Given the description of an element on the screen output the (x, y) to click on. 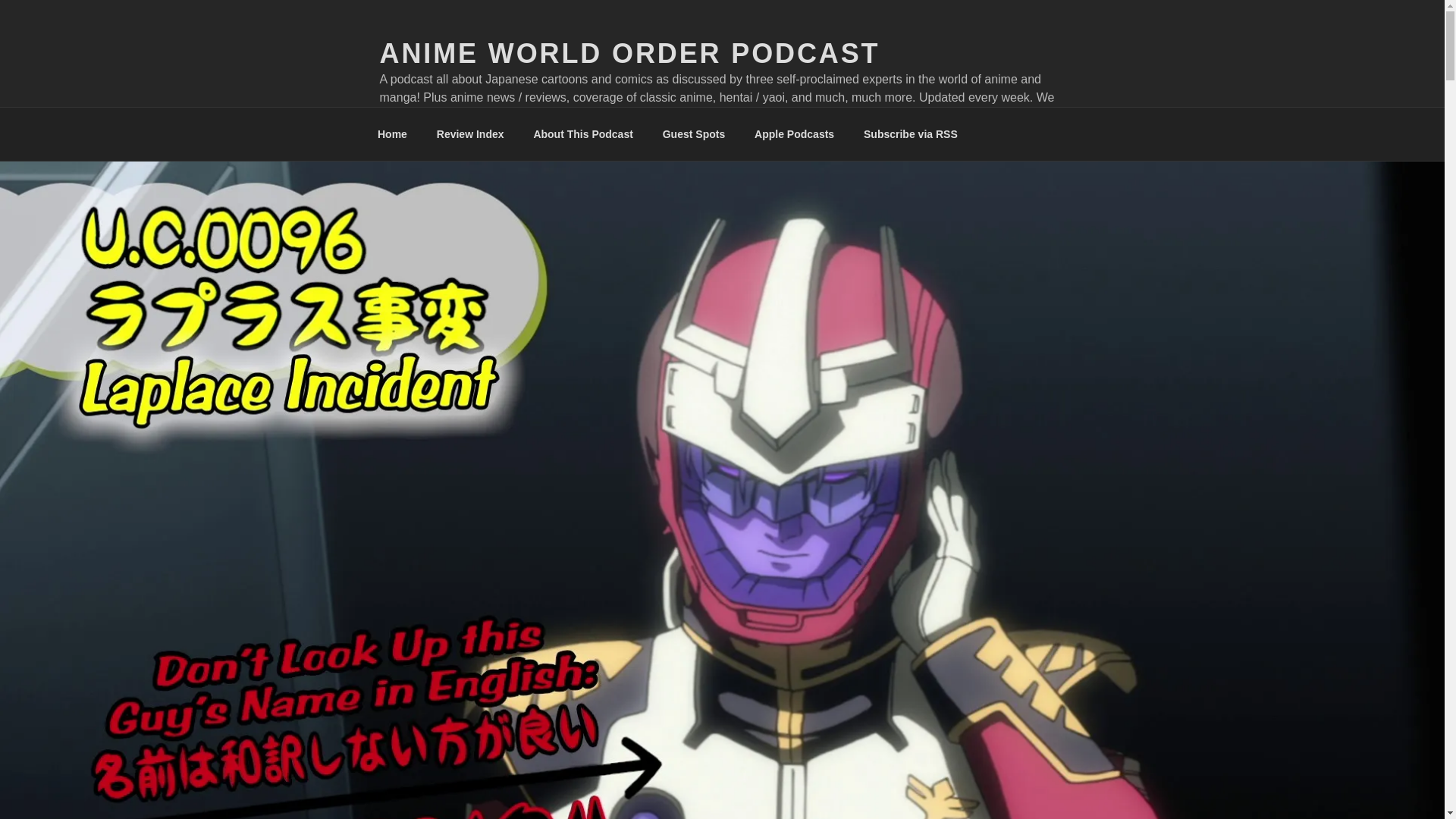
Review Index (469, 133)
Guest Spots (693, 133)
Home (392, 133)
Subscribe via RSS (910, 133)
Apple Podcasts (794, 133)
About This Podcast (582, 133)
ANIME WORLD ORDER PODCAST (628, 52)
